Given the description of an element on the screen output the (x, y) to click on. 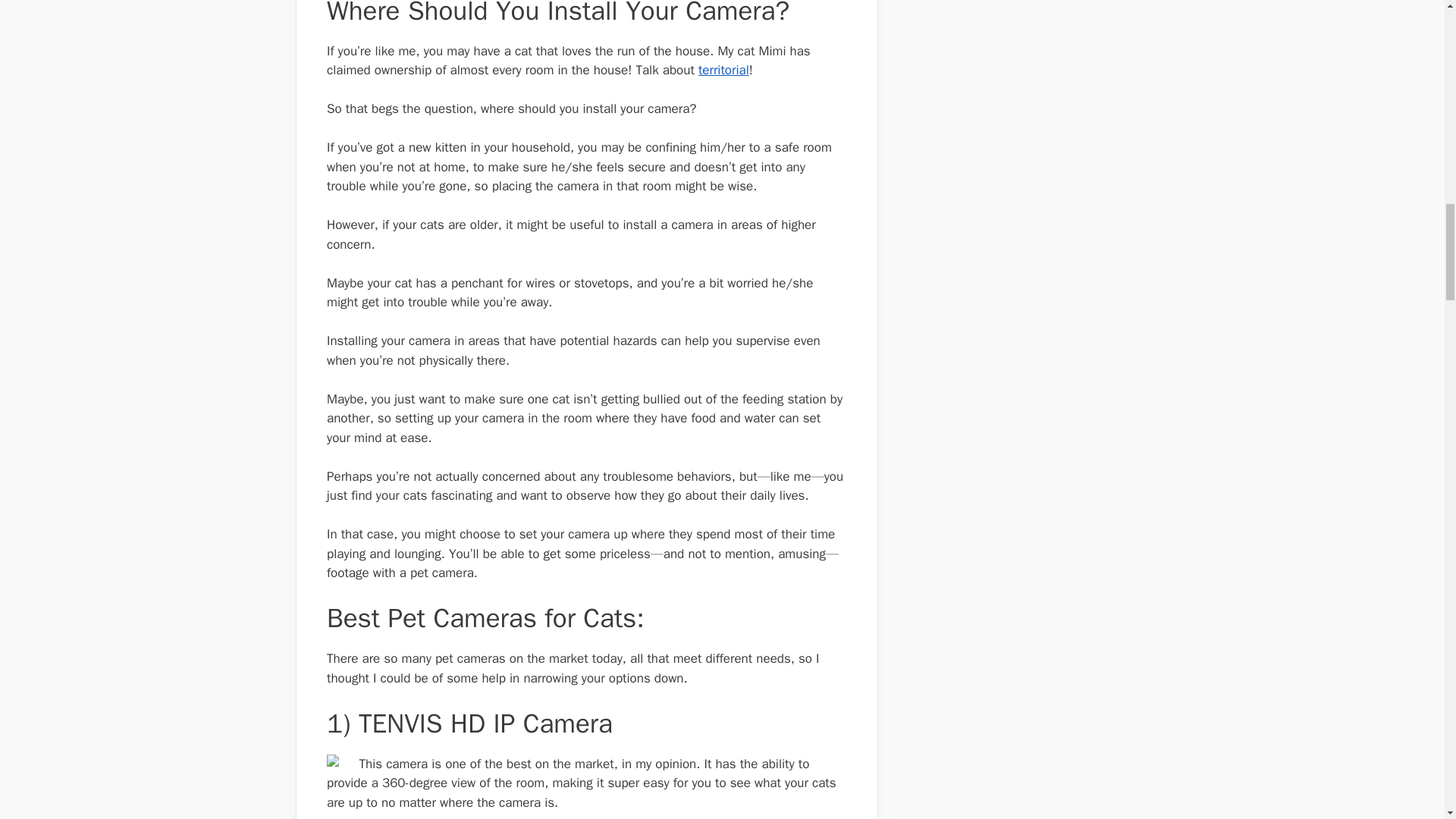
territorial (723, 69)
